Given the description of an element on the screen output the (x, y) to click on. 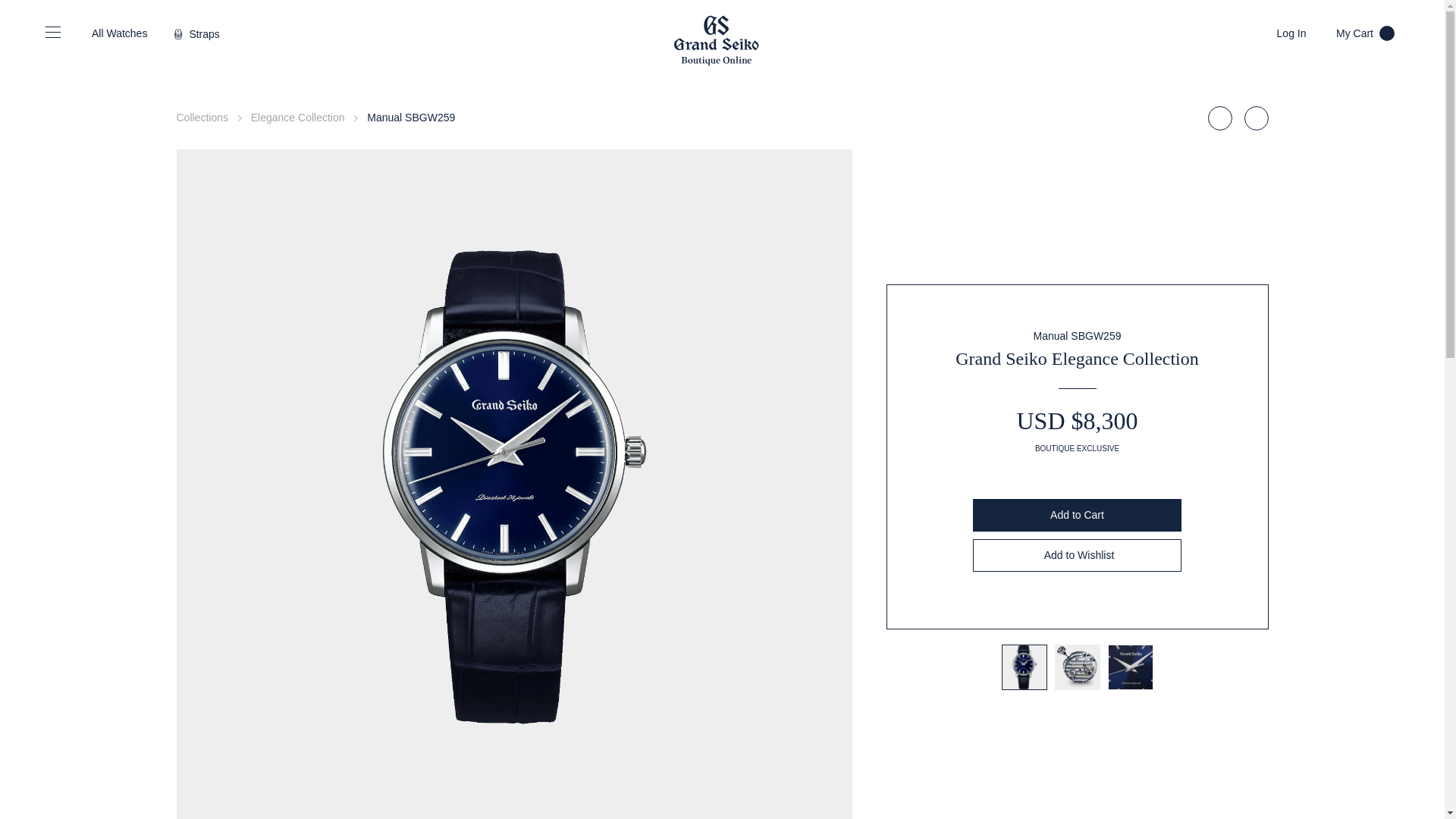
All Watches (117, 33)
Collections (201, 117)
Log In (1365, 33)
Straps (1291, 33)
Click to Call Grand Seiko (196, 33)
Elegance Collection (1076, 554)
Add to Cart (297, 117)
